Given the description of an element on the screen output the (x, y) to click on. 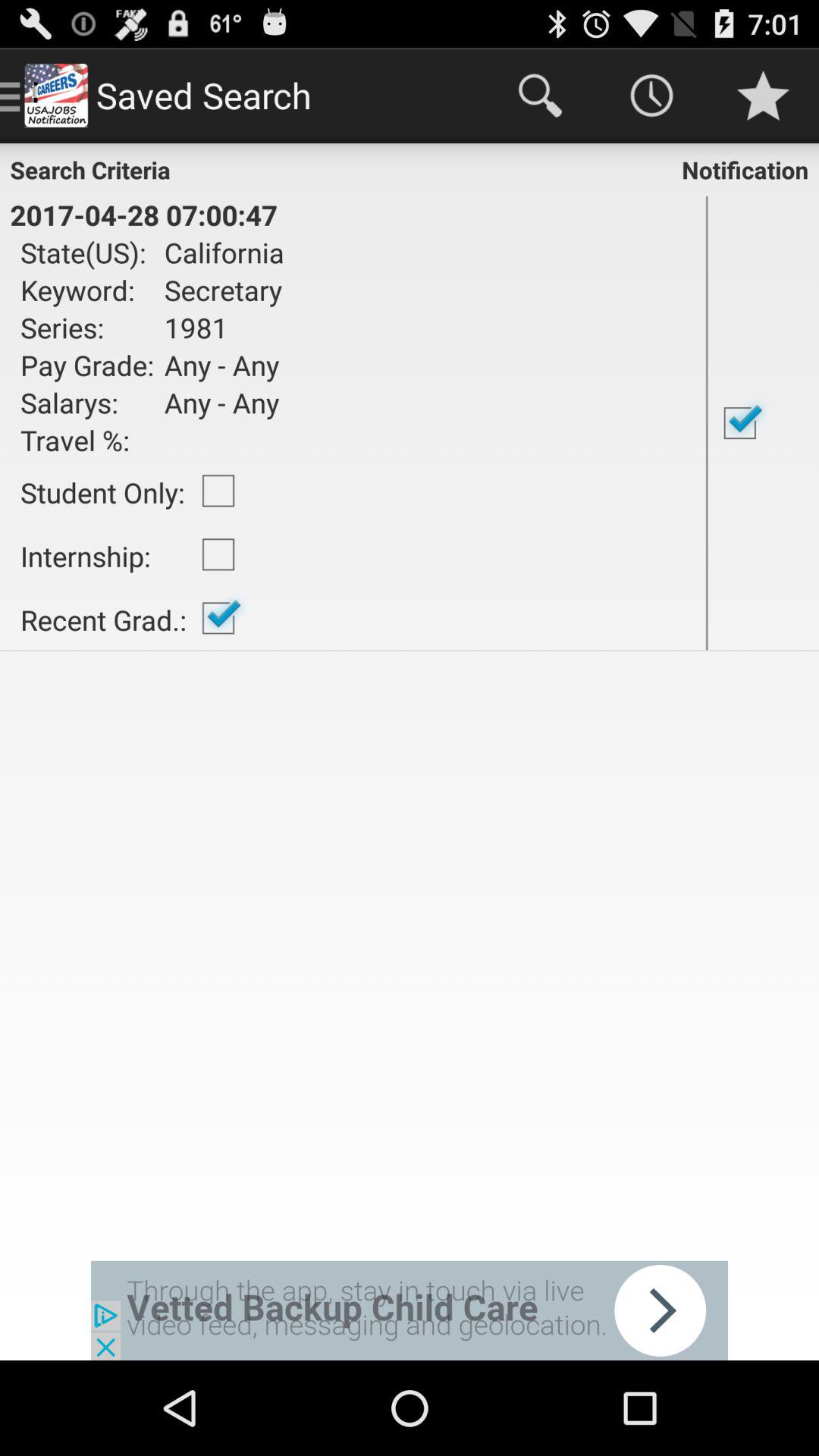
turn on item next to the secretary app (87, 327)
